Given the description of an element on the screen output the (x, y) to click on. 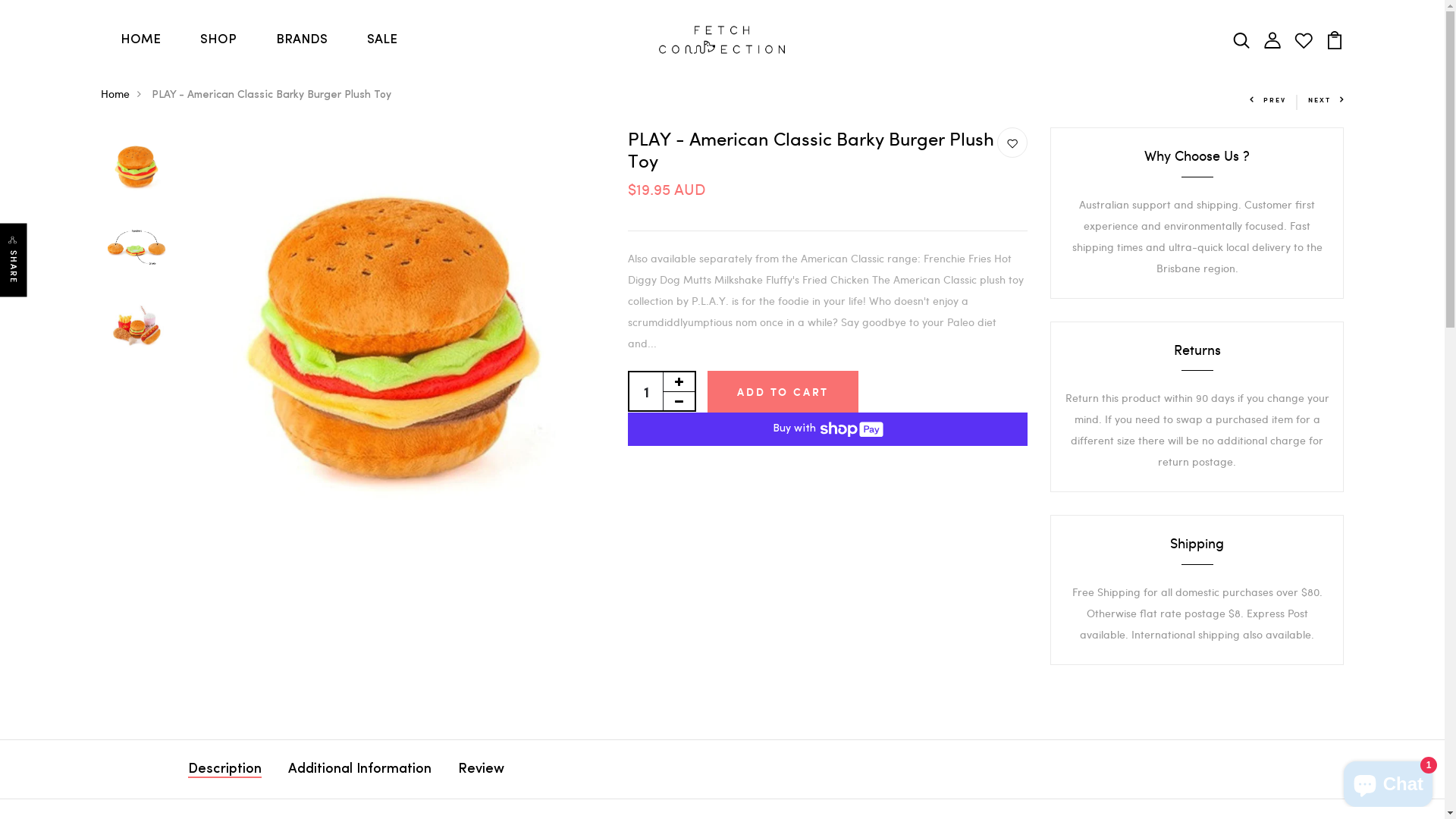
Review Element type: text (481, 769)
BRANDS Element type: text (301, 40)
SHOP Element type: text (218, 40)
image/svg+xml Element type: text (1241, 38)
image/svg+xml Element type: text (1011, 143)
register Element type: text (722, 750)
image/svg+xml Element type: text (1272, 38)
NEXT Element type: text (1325, 99)
image/svg+xml Element type: text (1303, 38)
HOME Element type: text (139, 40)
SALE Element type: text (381, 40)
image/svg+xml Element type: text (1334, 38)
Shopify online store chat Element type: hover (1388, 780)
PREV Element type: text (1267, 99)
ADD TO CART Element type: text (782, 391)
Description Element type: text (224, 769)
Home Element type: text (123, 93)
Additional Information Element type: text (359, 769)
Log In Element type: text (722, 487)
